Given the description of an element on the screen output the (x, y) to click on. 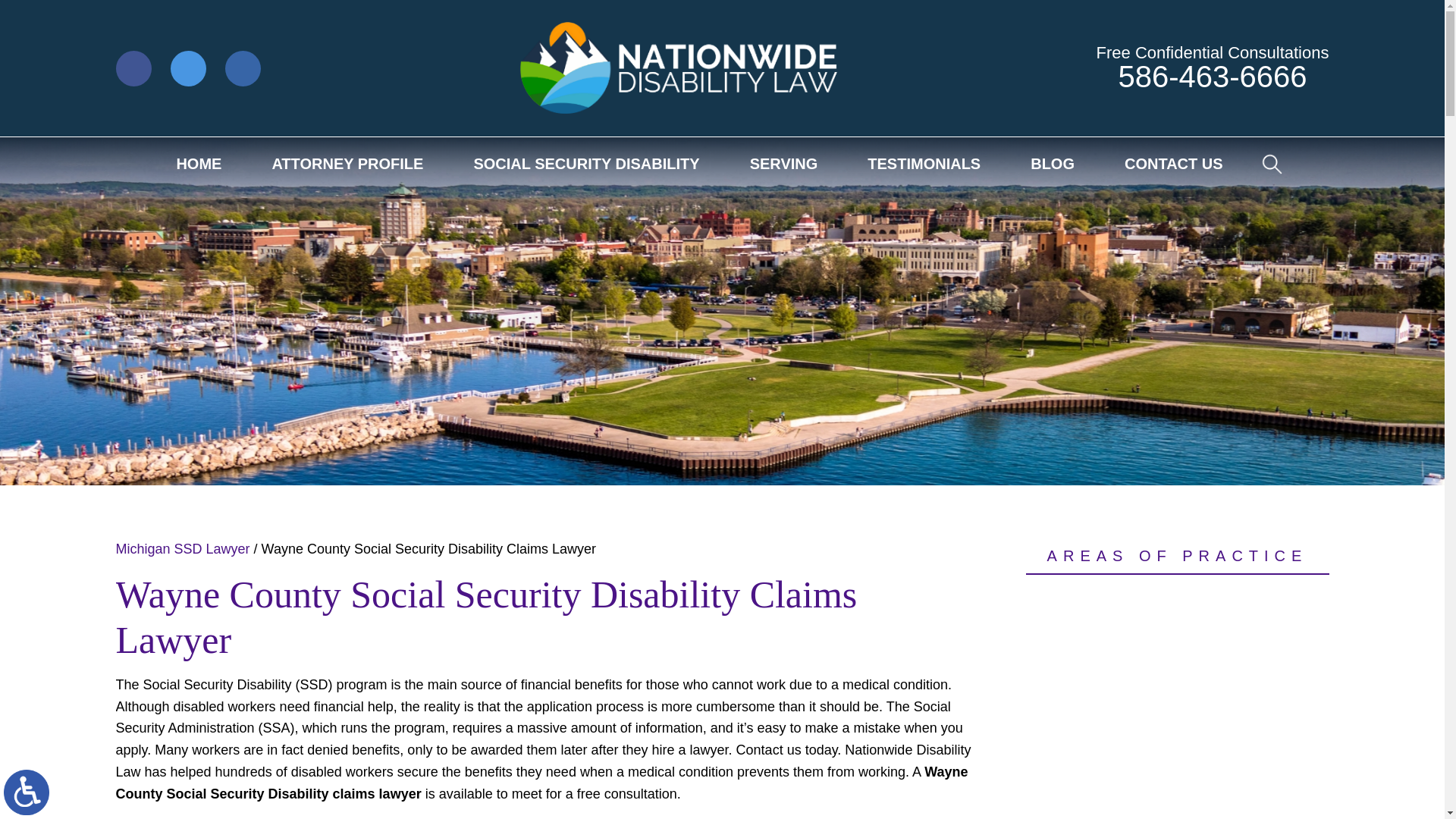
Michigan SSD Lawyer (181, 548)
SOCIAL SECURITY DISABILITY (585, 163)
SOCIAL SECURITY DISABILITY (1176, 706)
CONTACT US (1173, 163)
SERVING (783, 163)
Switch to ADA Accessible Theme (26, 791)
BLOG (1052, 163)
TESTIMONIALS (923, 163)
HOME (198, 163)
586-463-6666 (1212, 76)
